Given the description of an element on the screen output the (x, y) to click on. 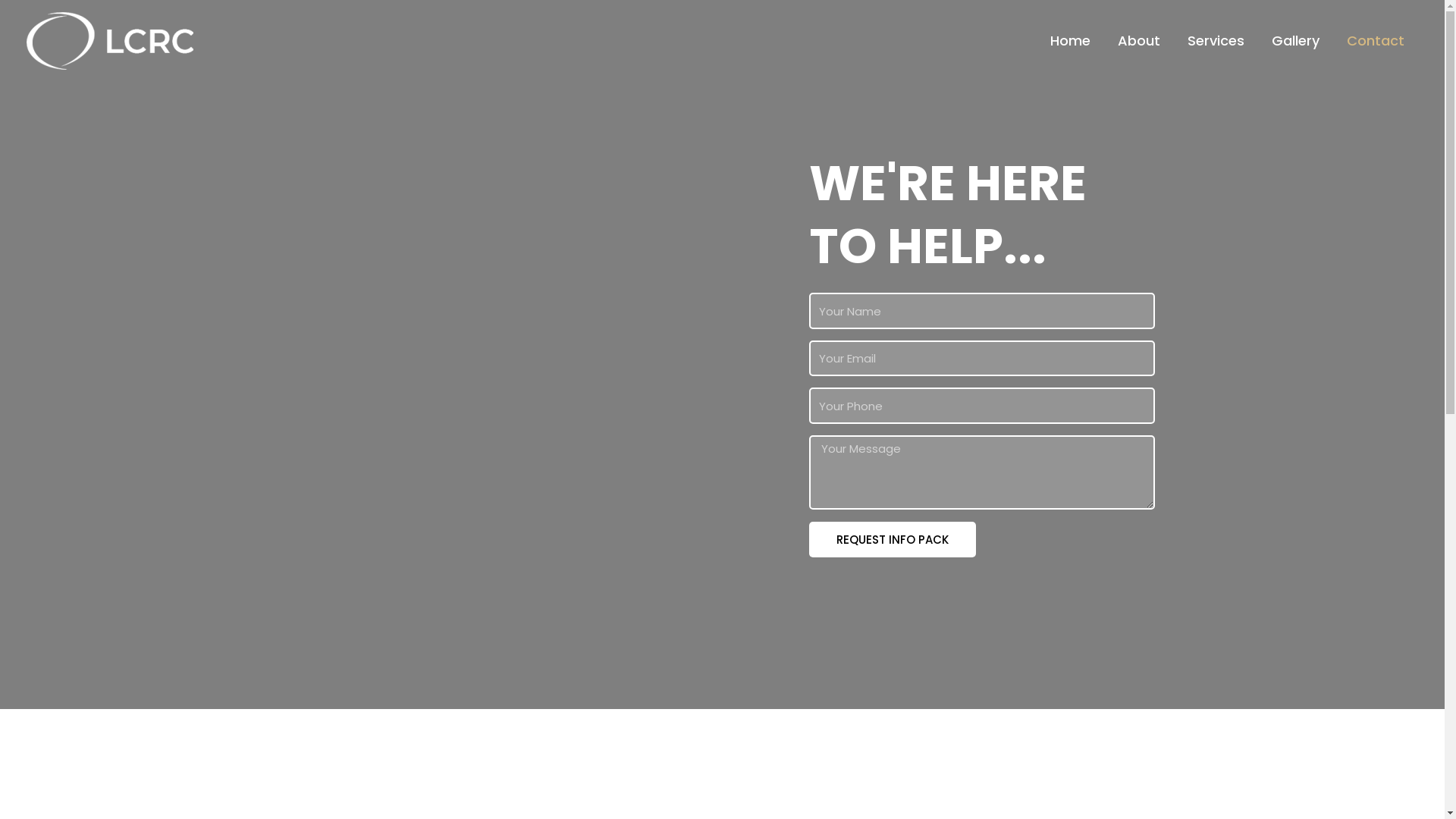
REQUEST INFO PACK Element type: text (891, 539)
Home Element type: text (1070, 40)
About Element type: text (1138, 40)
Gallery Element type: text (1295, 40)
Contact Element type: text (1375, 40)
Services Element type: text (1215, 40)
